Given the description of an element on the screen output the (x, y) to click on. 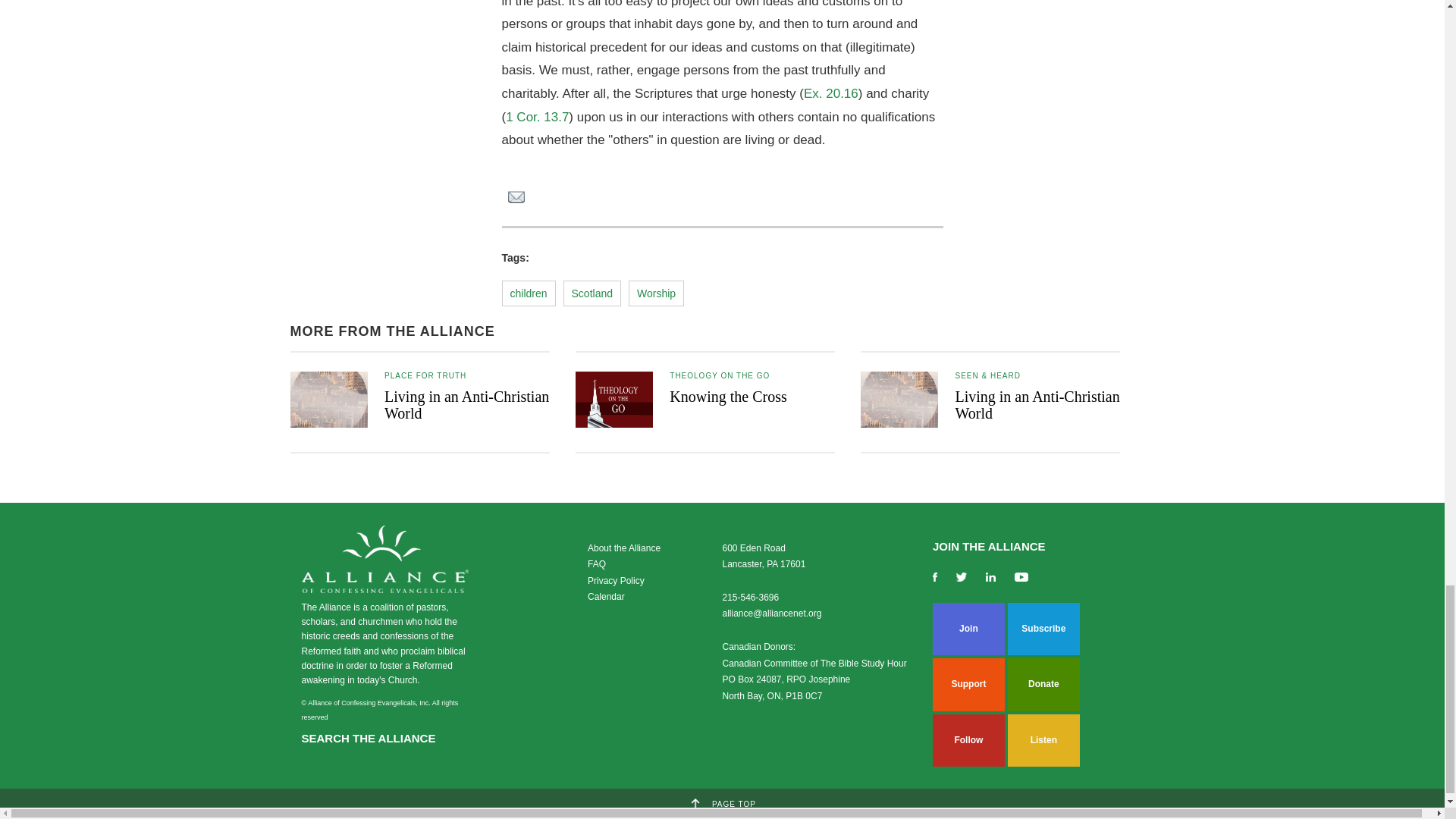
Share this page through e-mail. Local e-mail client needed. (516, 198)
Place for Truth (424, 375)
Knowing the Cross (727, 396)
Living in an Anti-Christian World (466, 404)
Place for Truth (719, 375)
Living in an Anti-Christian World (1037, 404)
